Given the description of an element on the screen output the (x, y) to click on. 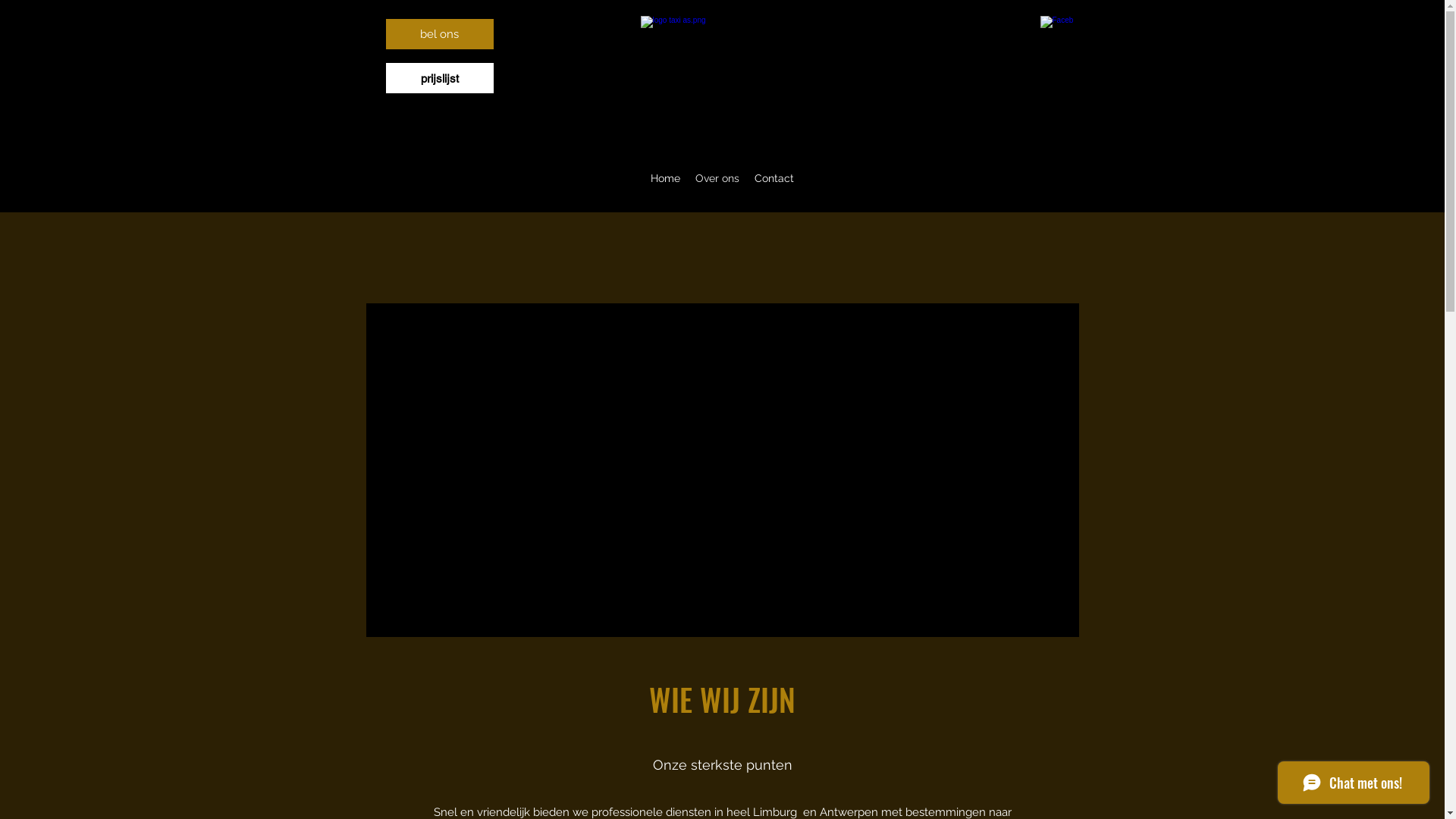
Contact Element type: text (773, 177)
Home Element type: text (665, 177)
prijslijst Element type: text (438, 77)
bel ons Element type: text (438, 33)
Over ons Element type: text (716, 177)
